Given the description of an element on the screen output the (x, y) to click on. 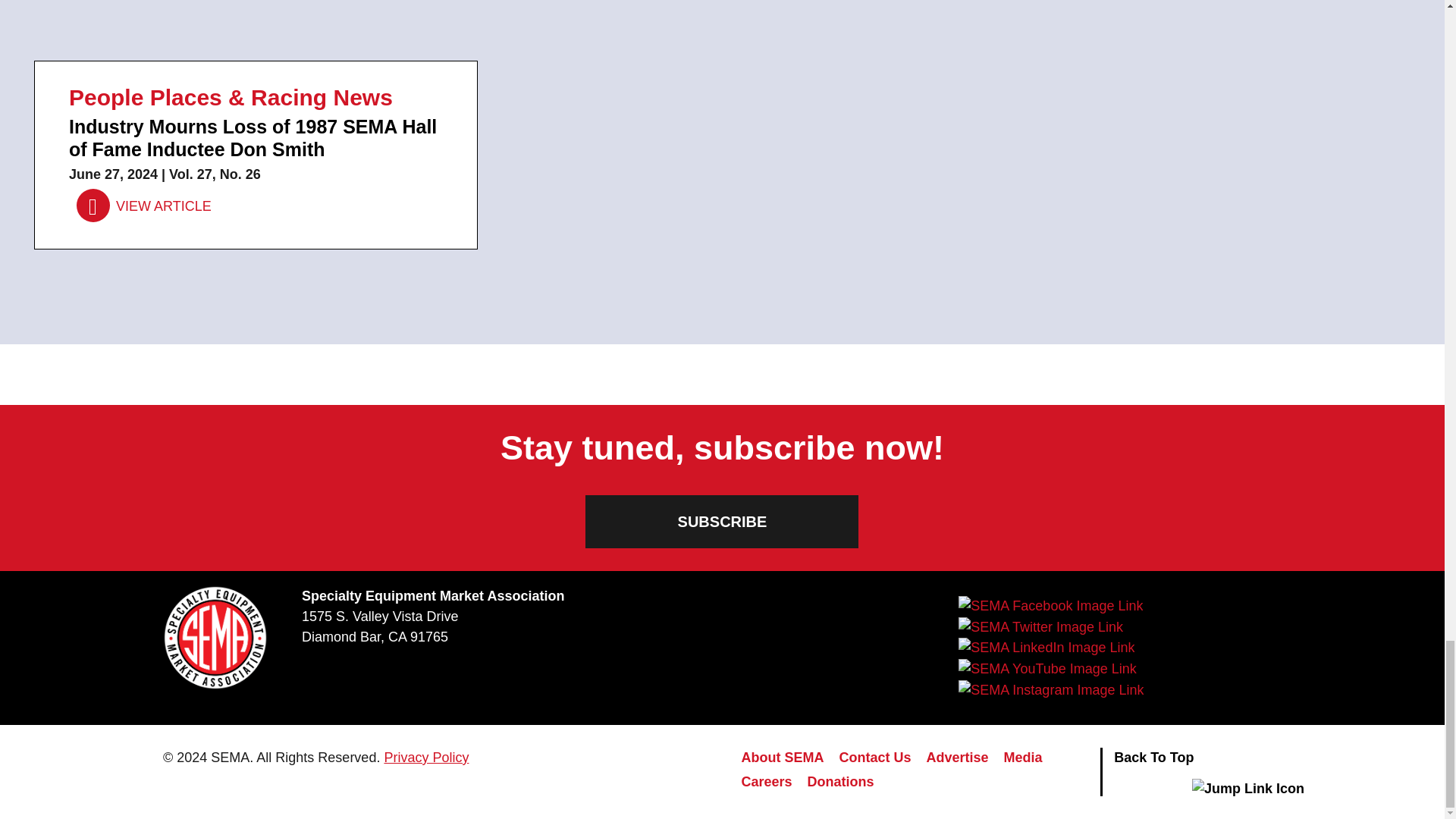
SEMA Instagram Link (1050, 690)
Privacy Policy (426, 757)
SEMA YouTube Link (1046, 668)
SEMA Twitter Link (1040, 627)
SEMA LinkedIn Link (1046, 648)
SEMA Facebook Link (1050, 605)
